Given the description of an element on the screen output the (x, y) to click on. 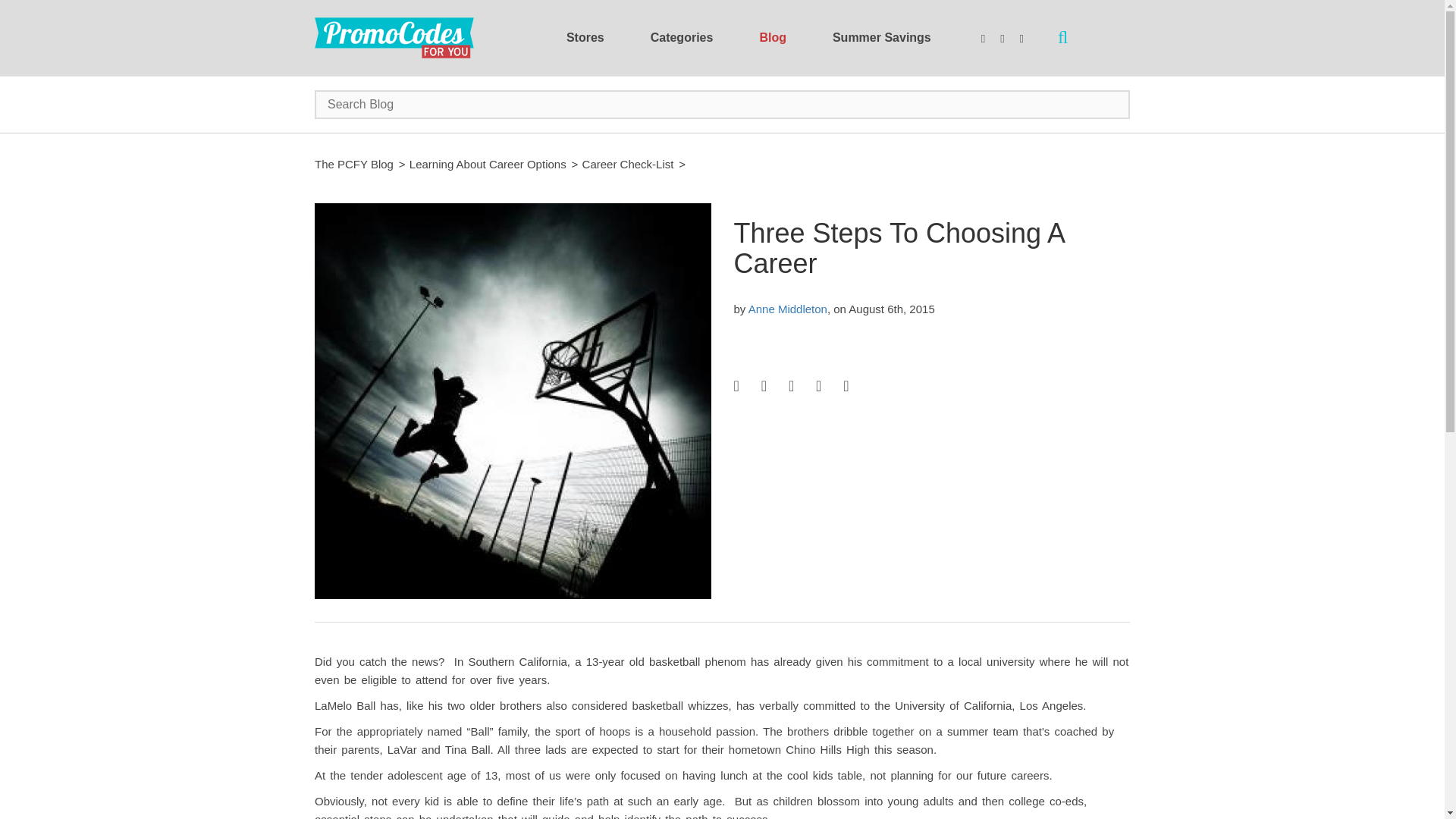
Blog (772, 37)
Learning About Career Options (487, 164)
Stores (584, 37)
The PCFY Blog (353, 164)
Summer Savings (881, 37)
Career Check-List (628, 164)
Categories (682, 37)
